Given the description of an element on the screen output the (x, y) to click on. 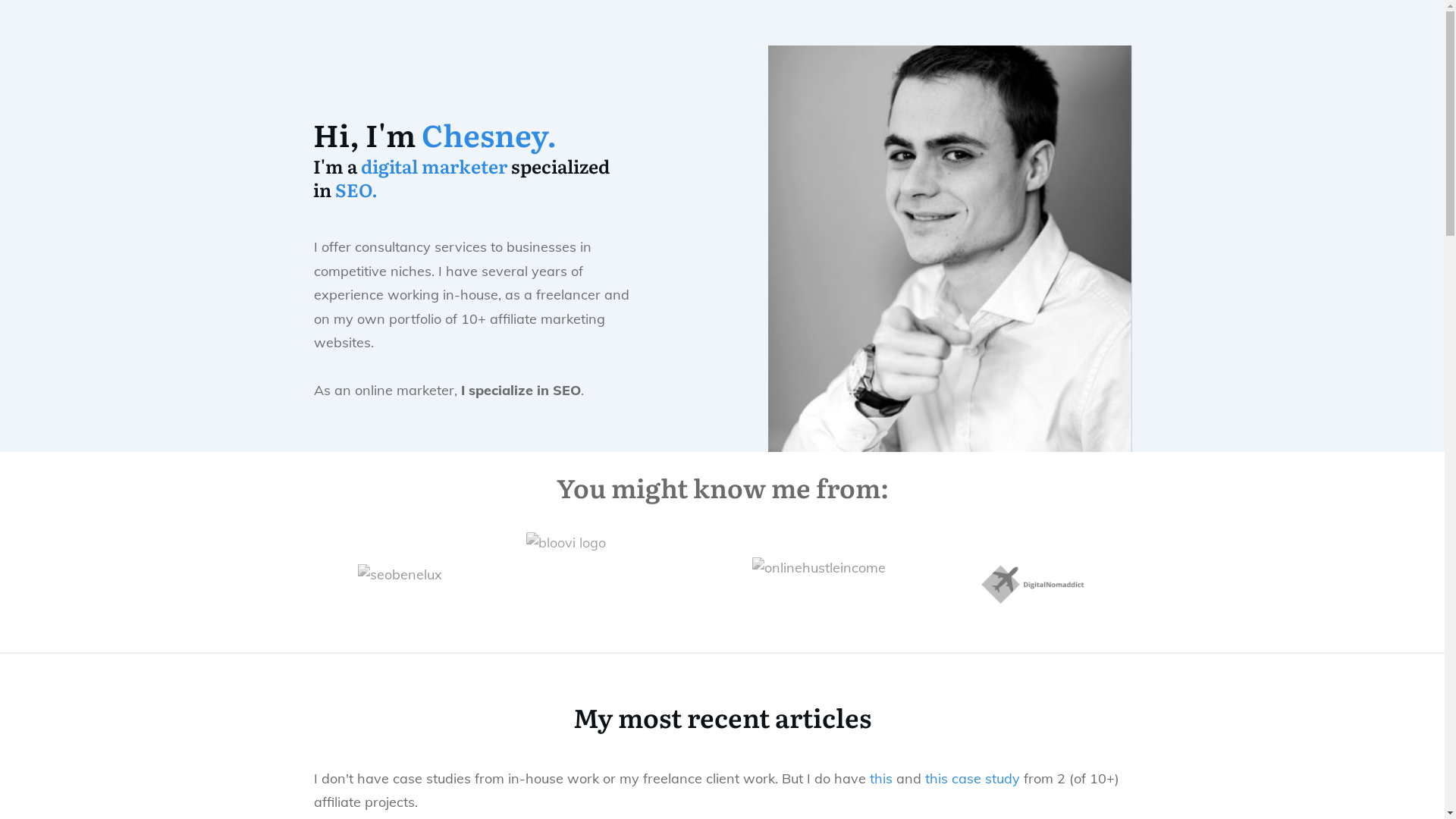
this Element type: text (880, 778)
seobenelux Element type: hover (410, 583)
Chesney-Vanroy Element type: hover (949, 248)
bloovi logo Element type: hover (618, 584)
digitalnomaddict logo Element type: hover (1033, 583)
this case study Element type: text (972, 778)
onlinehustleincome Element type: hover (826, 584)
